Given the description of an element on the screen output the (x, y) to click on. 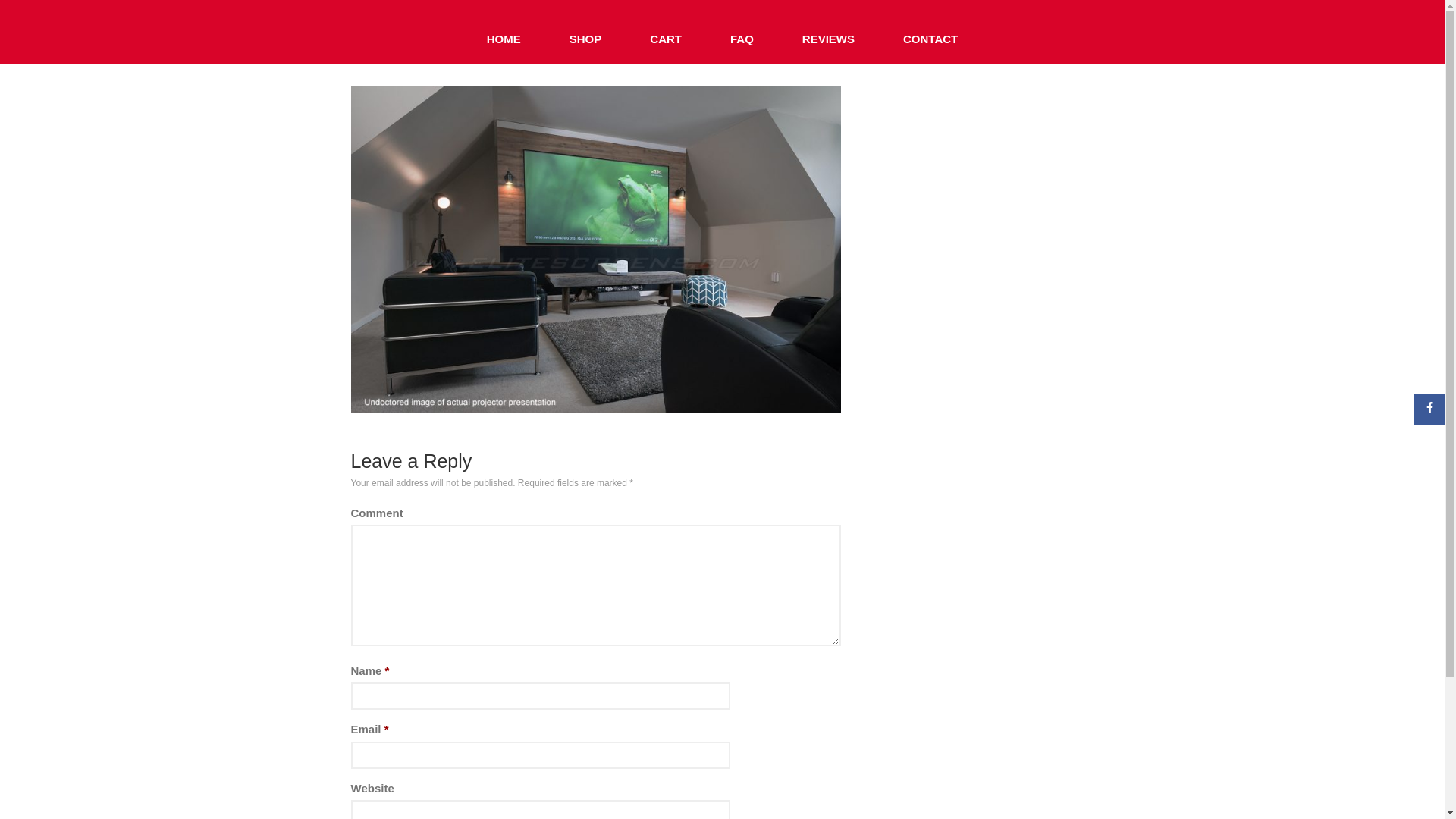
Dark Energy Screens Australia Element type: text (820, 24)
REVIEWS Element type: text (828, 39)
CONTACT Element type: text (930, 39)
FAQ Element type: text (741, 39)
HOME Element type: text (503, 39)
CART Element type: text (665, 39)
SHOP Element type: text (585, 39)
